Given the description of an element on the screen output the (x, y) to click on. 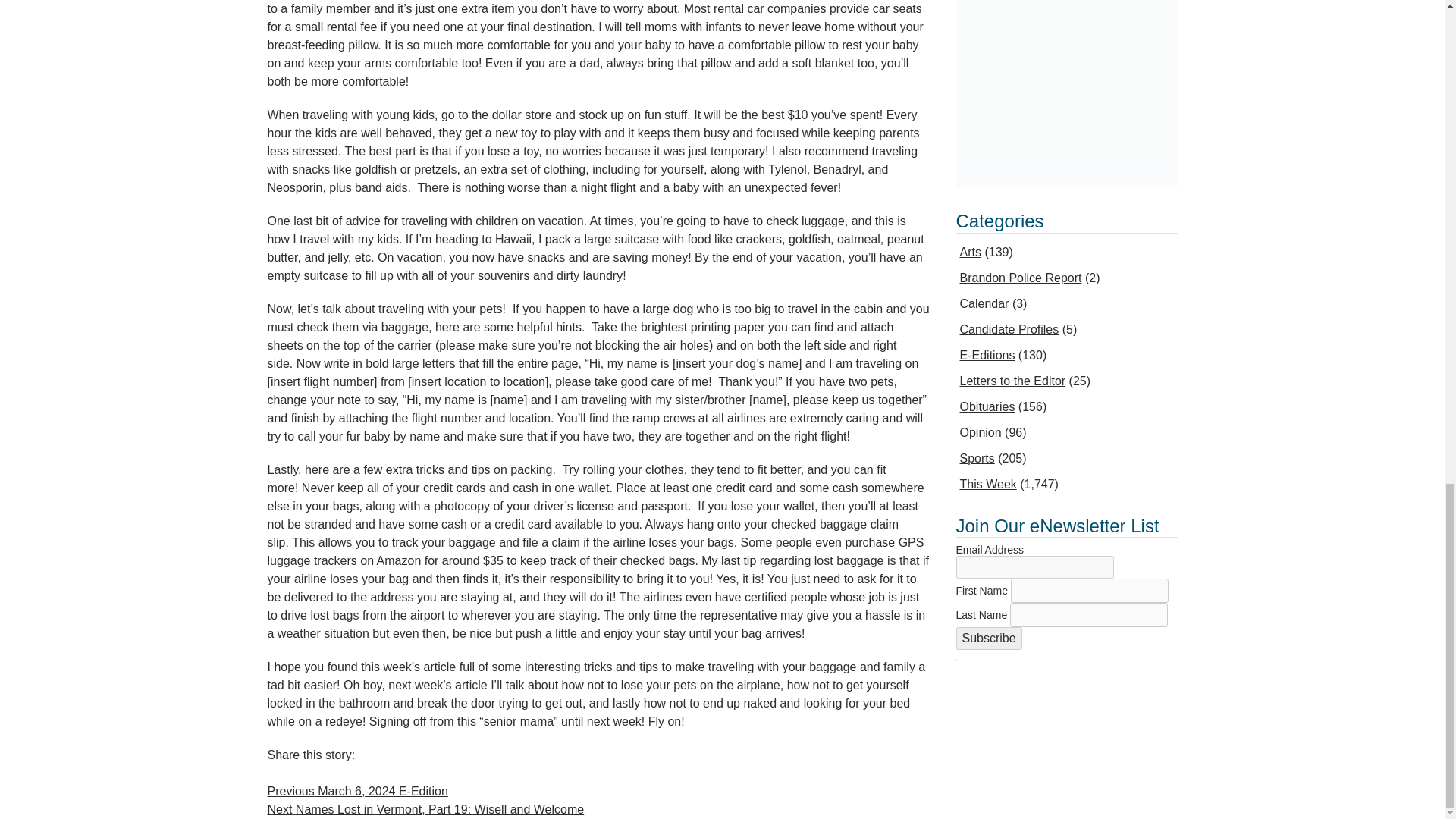
Subscribe (988, 638)
